Given the description of an element on the screen output the (x, y) to click on. 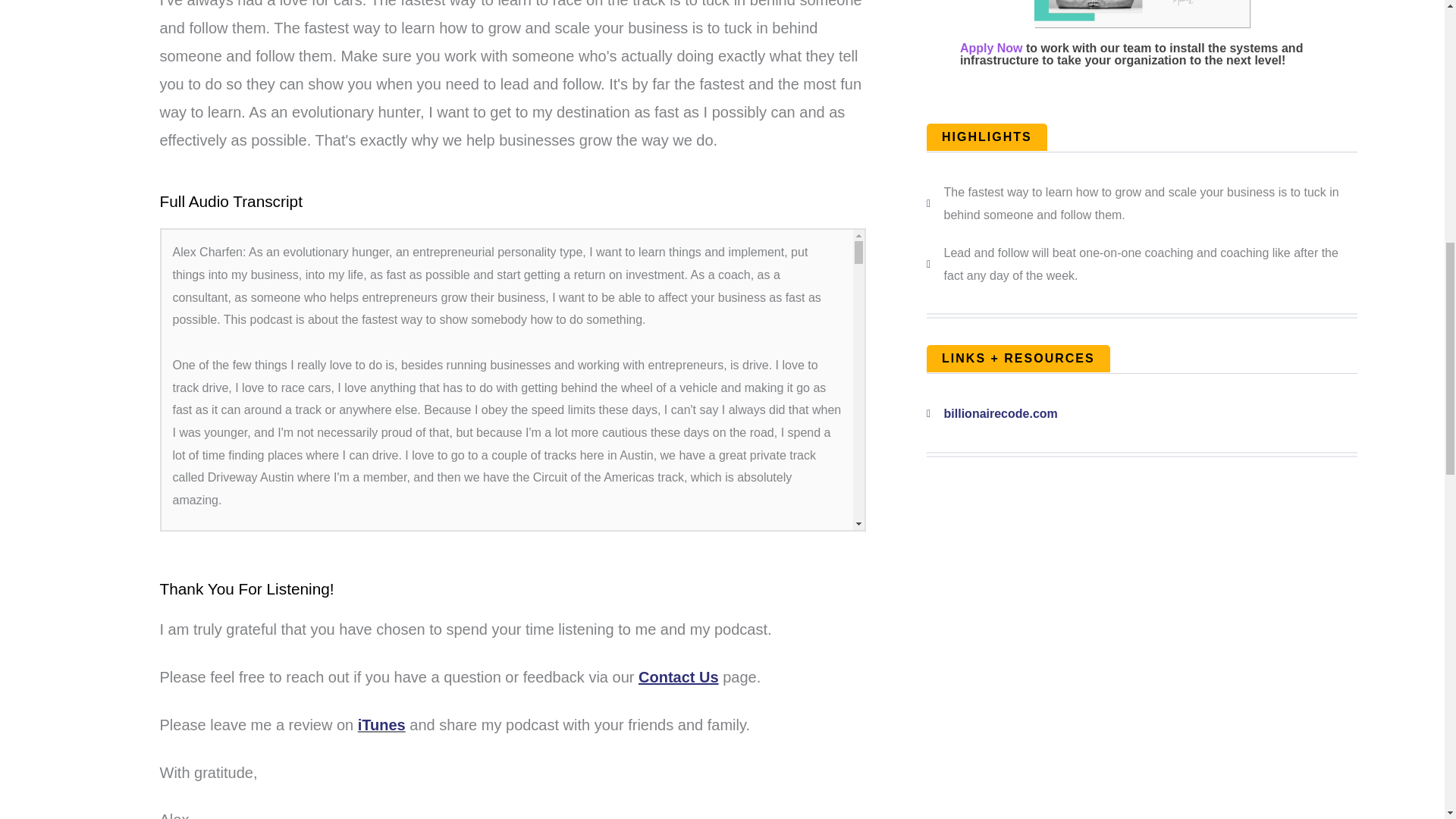
iTunes (382, 724)
billionairecode.com (1141, 413)
HIGHLIGHTS (986, 136)
Contact Us (679, 677)
